Given the description of an element on the screen output the (x, y) to click on. 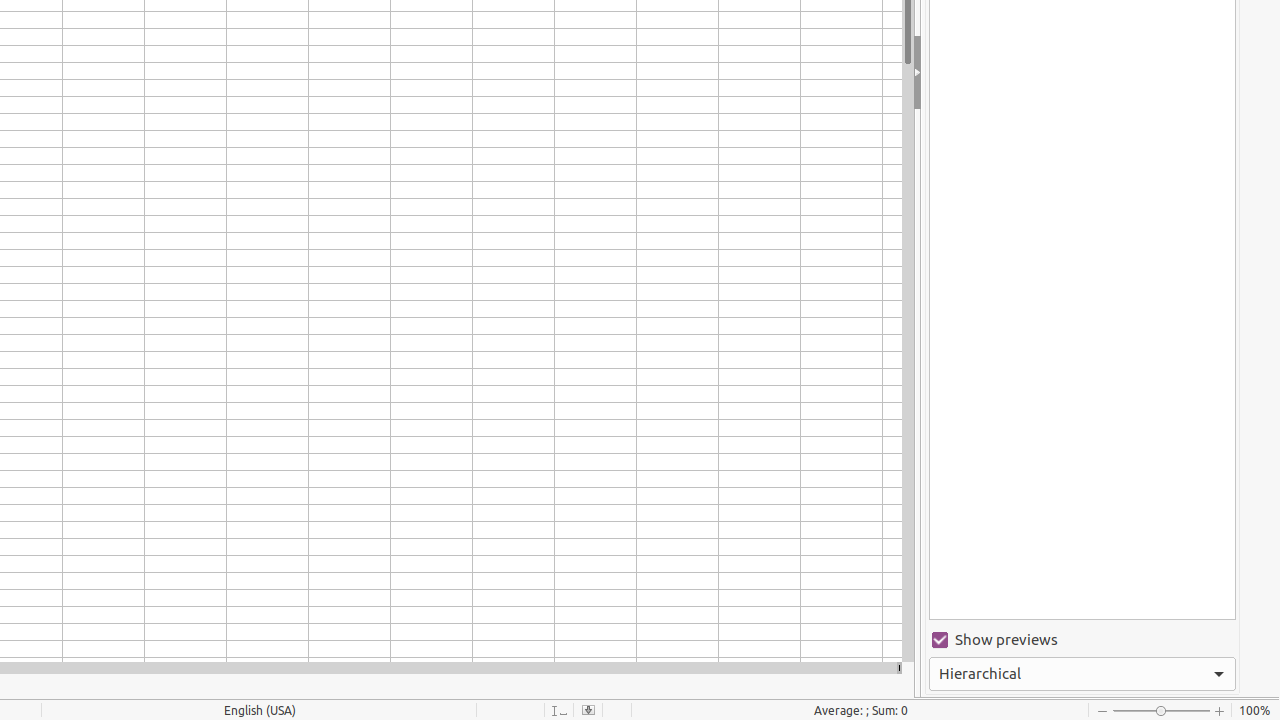
Show previews Element type: check-box (1082, 640)
